Given the description of an element on the screen output the (x, y) to click on. 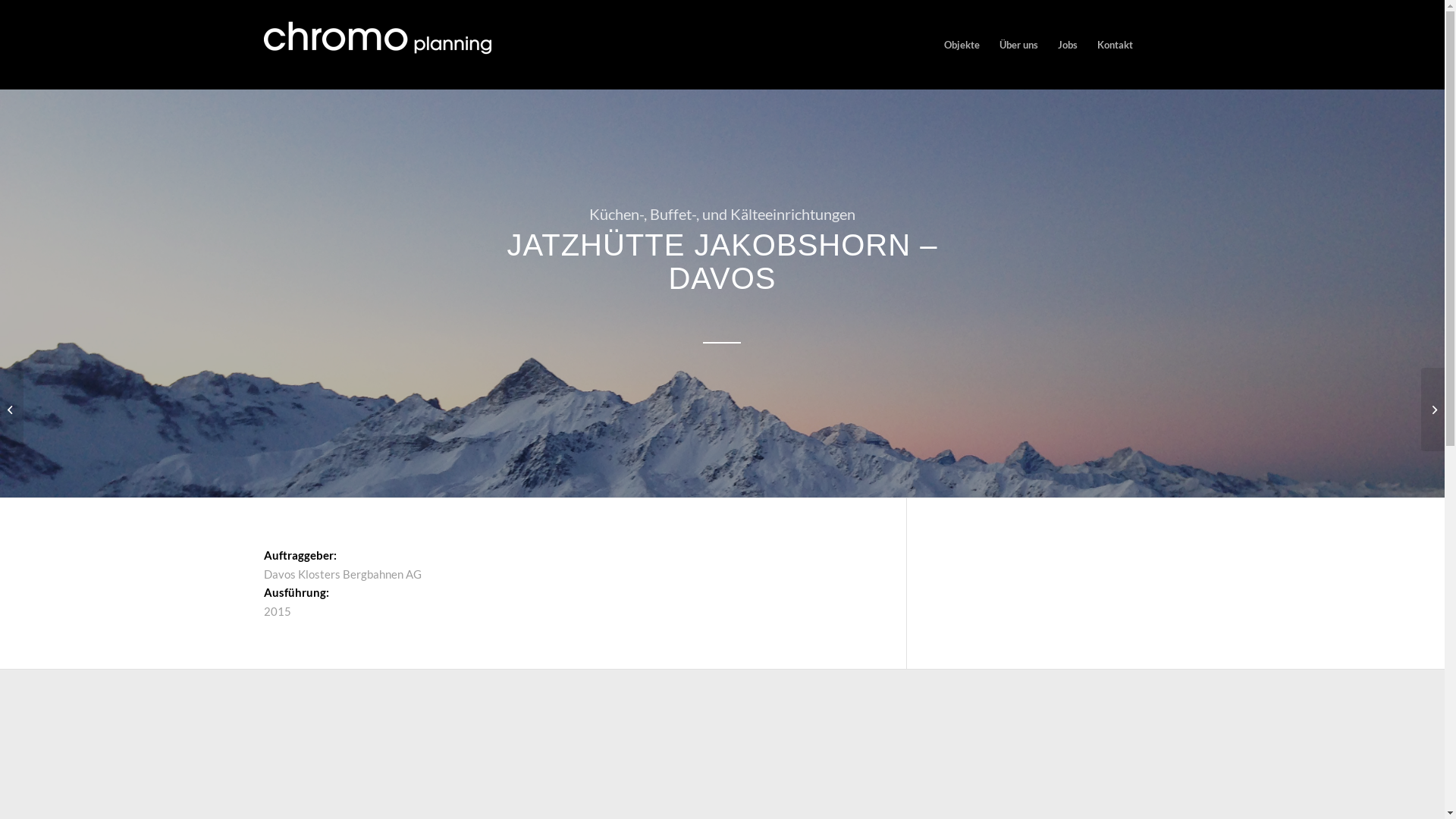
Objekte Element type: text (961, 44)
Jobs Element type: text (1067, 44)
Kontakt Element type: text (1114, 44)
